Given the description of an element on the screen output the (x, y) to click on. 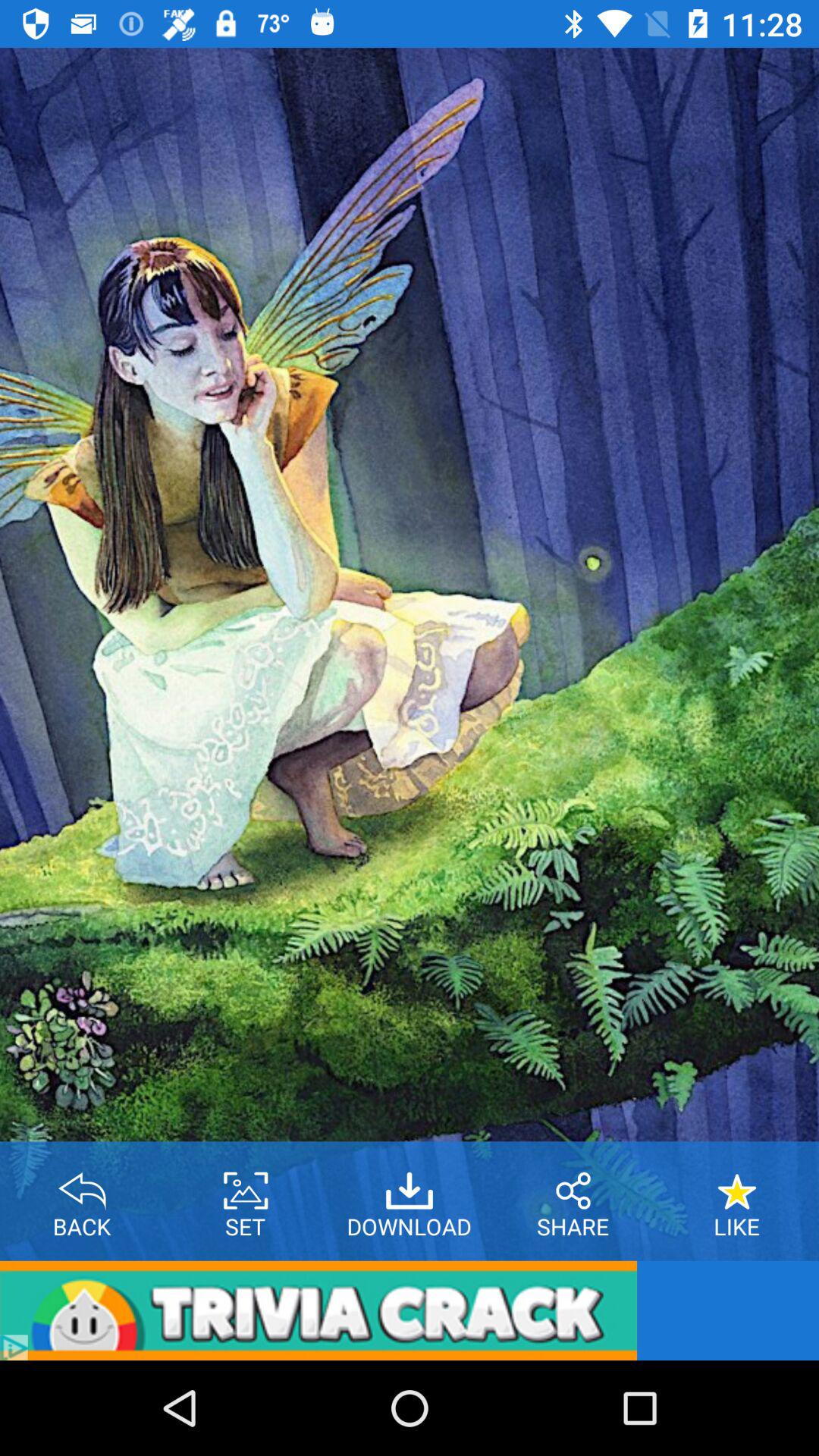
settings optiob (245, 1185)
